Given the description of an element on the screen output the (x, y) to click on. 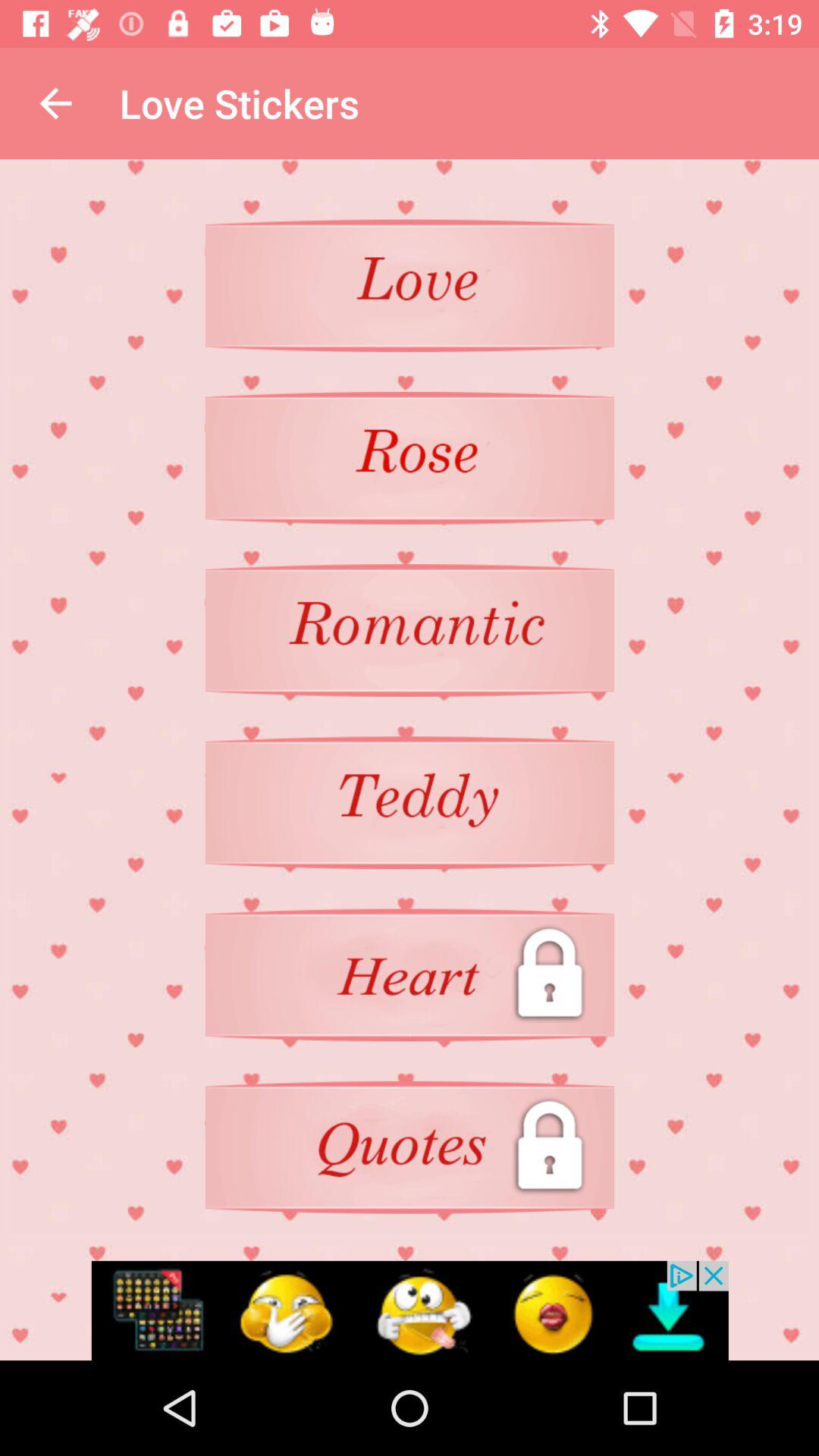
click on add (409, 1310)
